Given the description of an element on the screen output the (x, y) to click on. 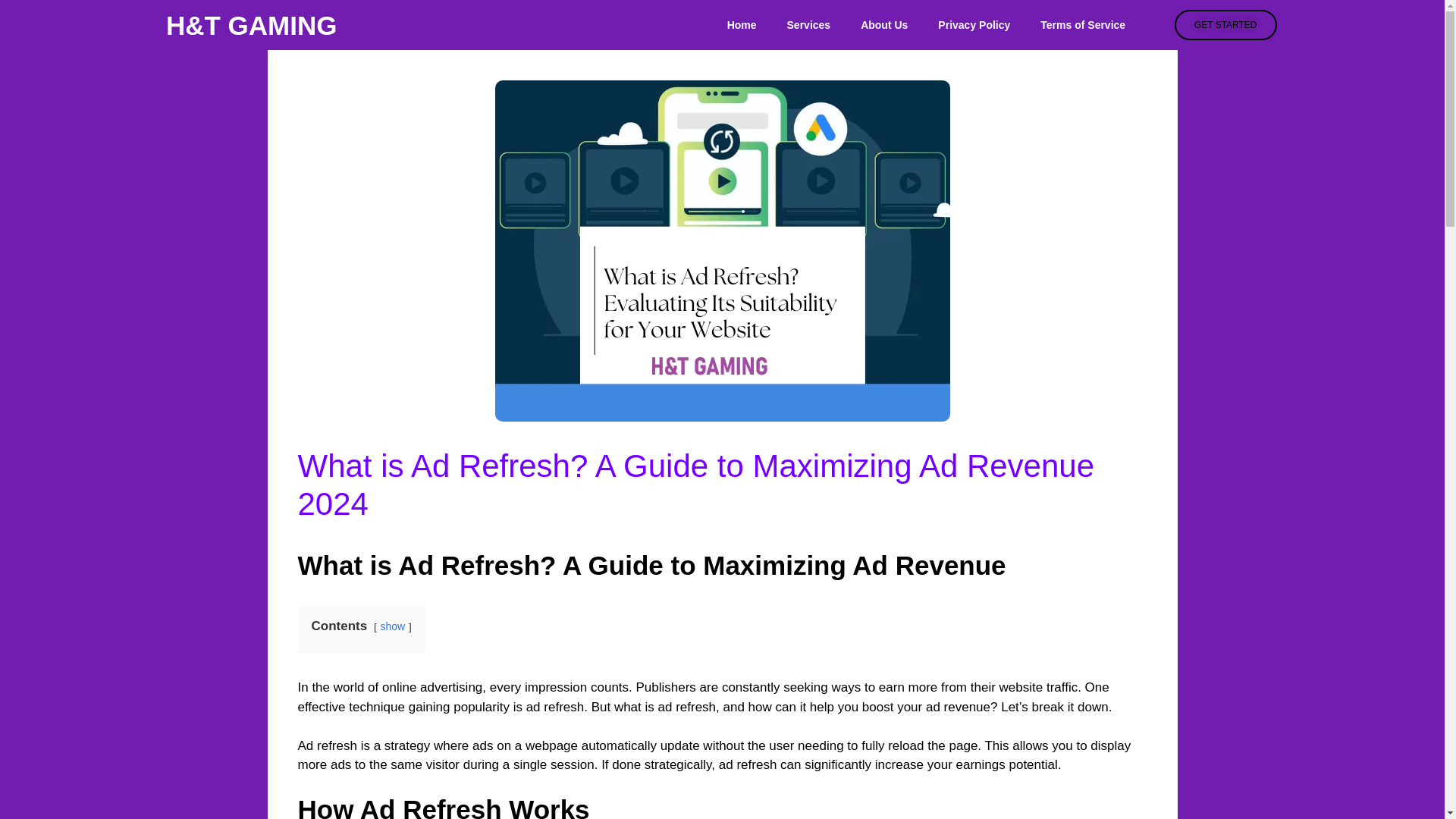
Terms of Service (1082, 24)
GET STARTED (1225, 24)
Services (808, 24)
About Us (884, 24)
show (392, 625)
Privacy Policy (974, 24)
Home (741, 24)
